Given the description of an element on the screen output the (x, y) to click on. 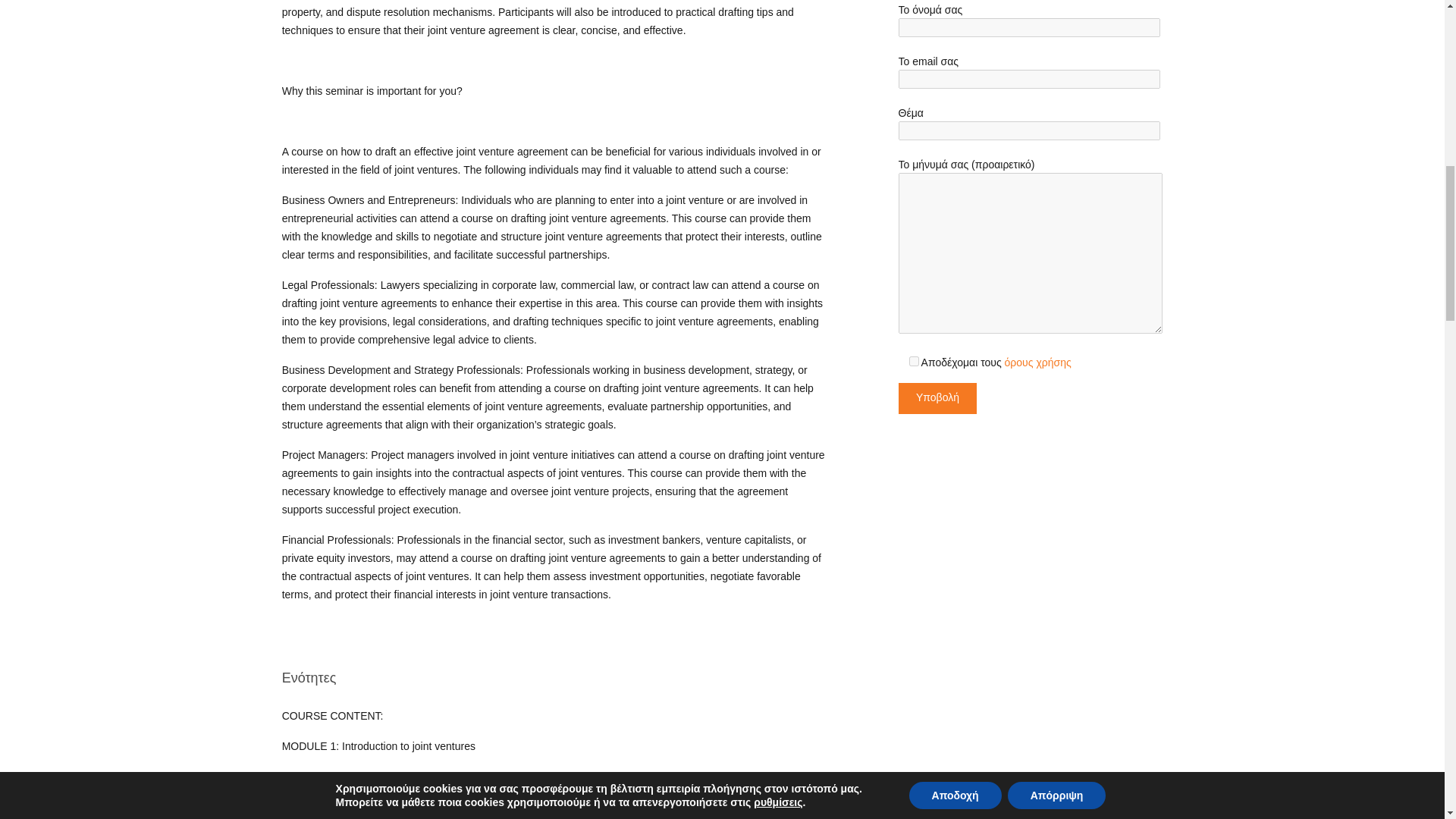
1 (913, 361)
